Given the description of an element on the screen output the (x, y) to click on. 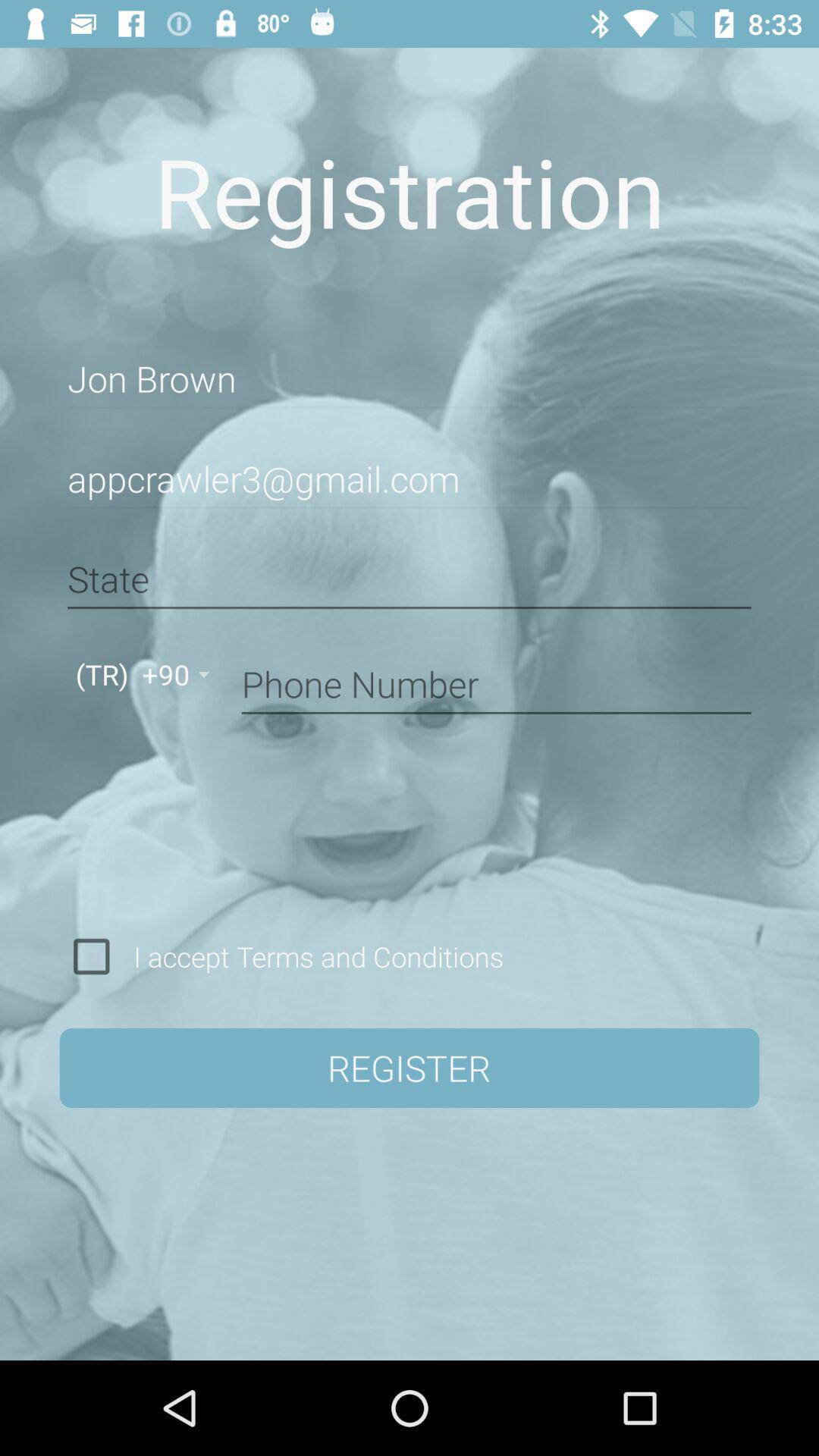
click the icon below the (tr)  +90 icon (91, 956)
